Given the description of an element on the screen output the (x, y) to click on. 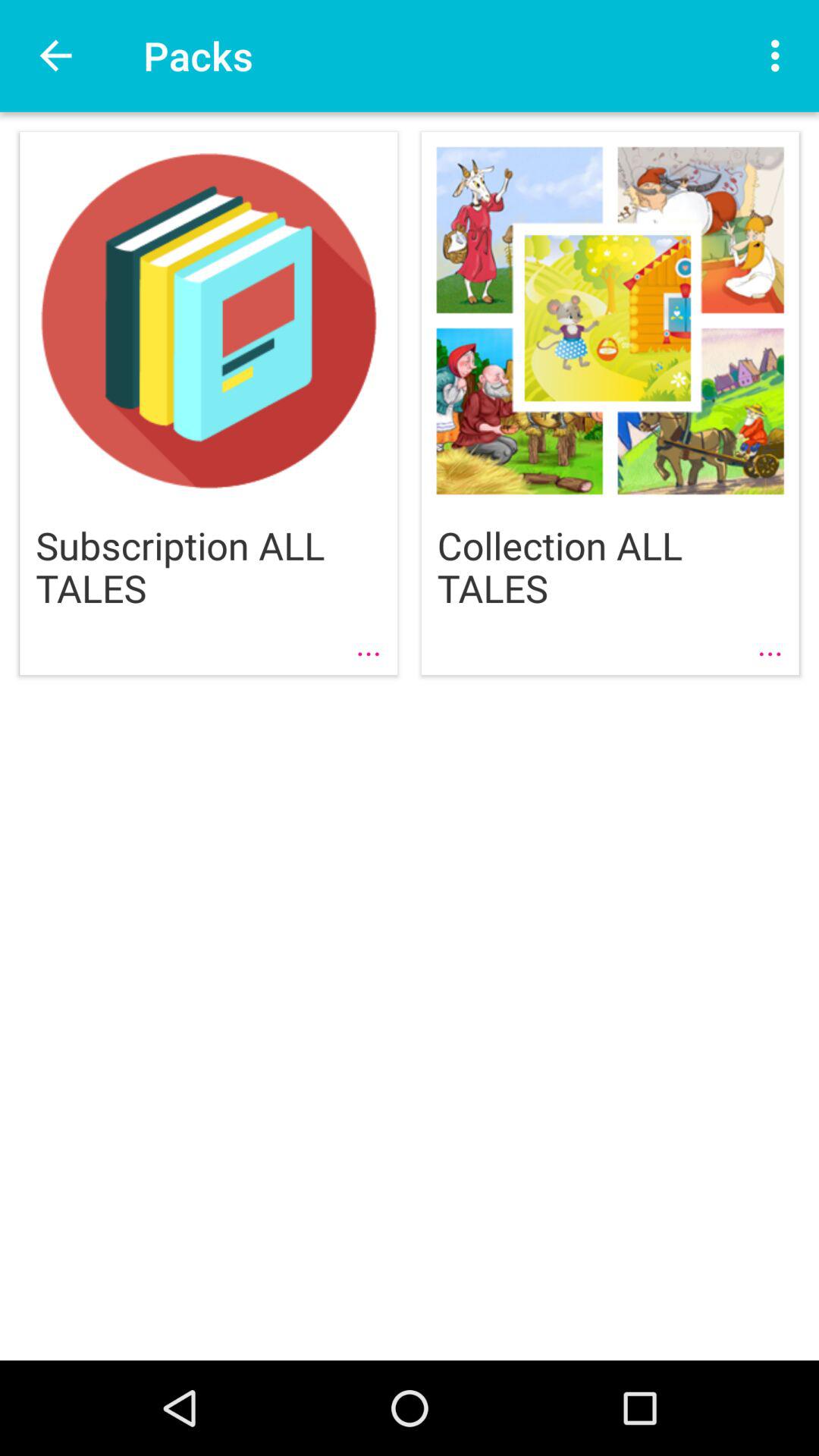
click on the second image (610, 403)
click the first image (208, 416)
